Given the description of an element on the screen output the (x, y) to click on. 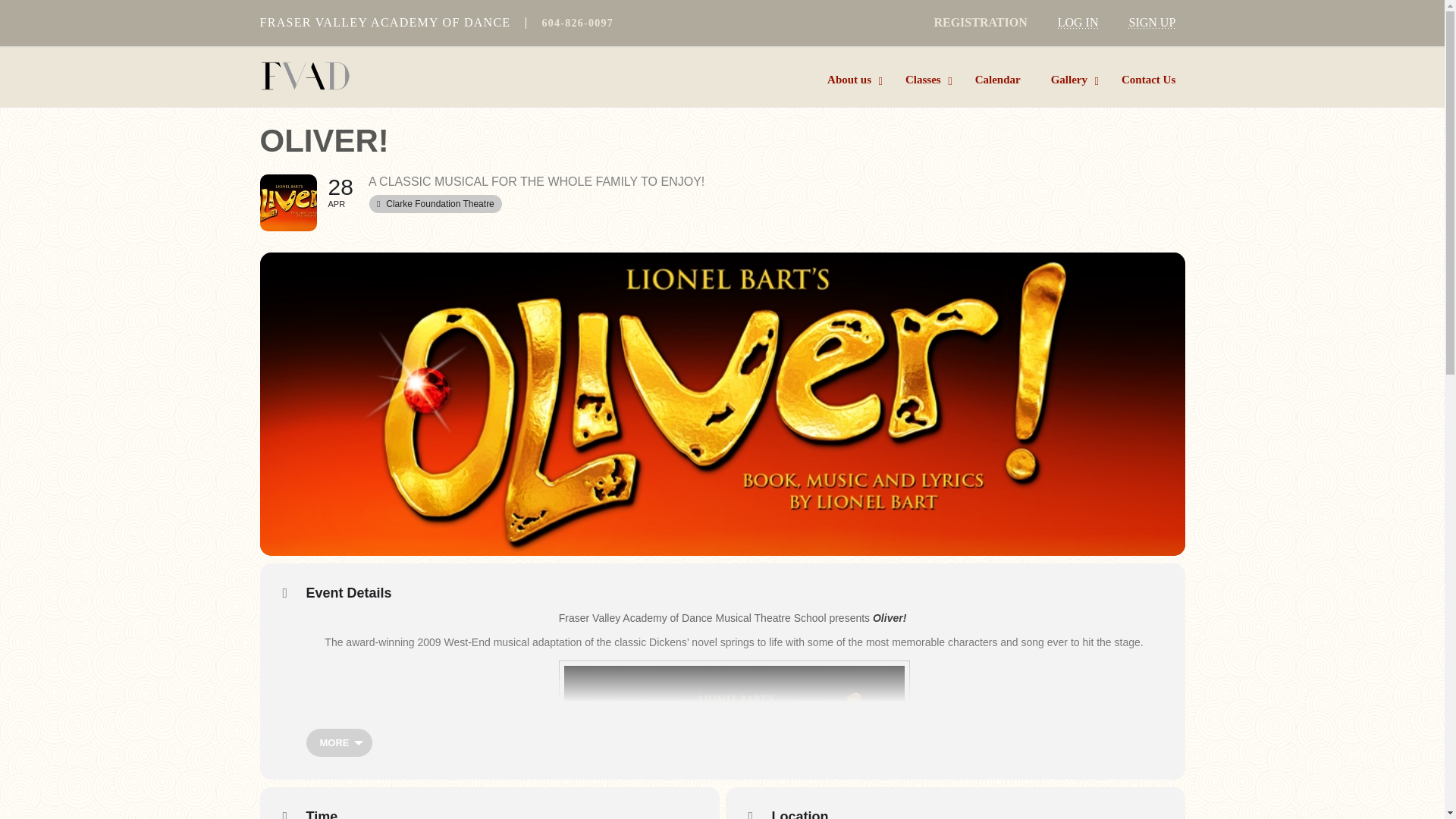
LOG IN (1078, 21)
Gallery (1070, 80)
SIGN UP (1151, 21)
REGISTRATION (979, 21)
Contact Us (1140, 80)
Fraser Valley Academy Of Dance (363, 75)
Classes (924, 80)
Calendar (997, 80)
About us (850, 80)
Fraser Valley Academy Of Dance (304, 75)
604-826-0097 (576, 22)
